Given the description of an element on the screen output the (x, y) to click on. 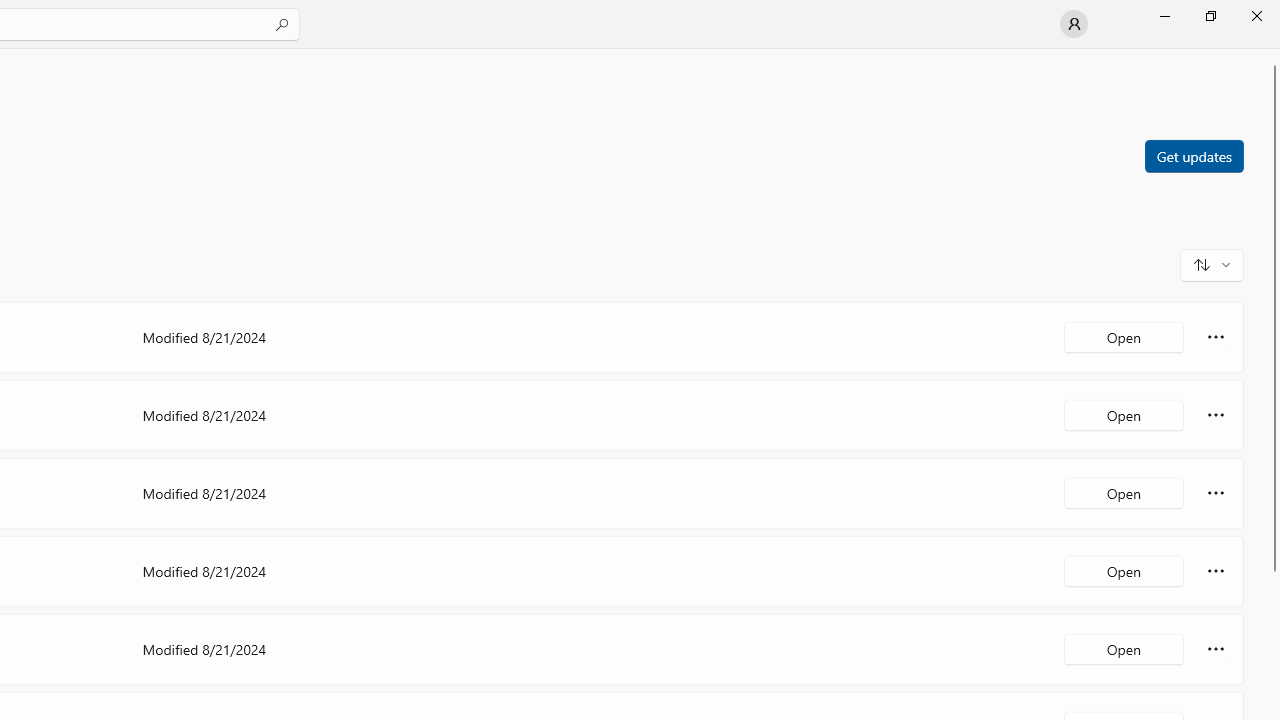
Get updates (1193, 155)
Open (1123, 648)
Vertical Small Decrease (1272, 55)
More options (1215, 648)
Sort and filter (1212, 263)
